Given the description of an element on the screen output the (x, y) to click on. 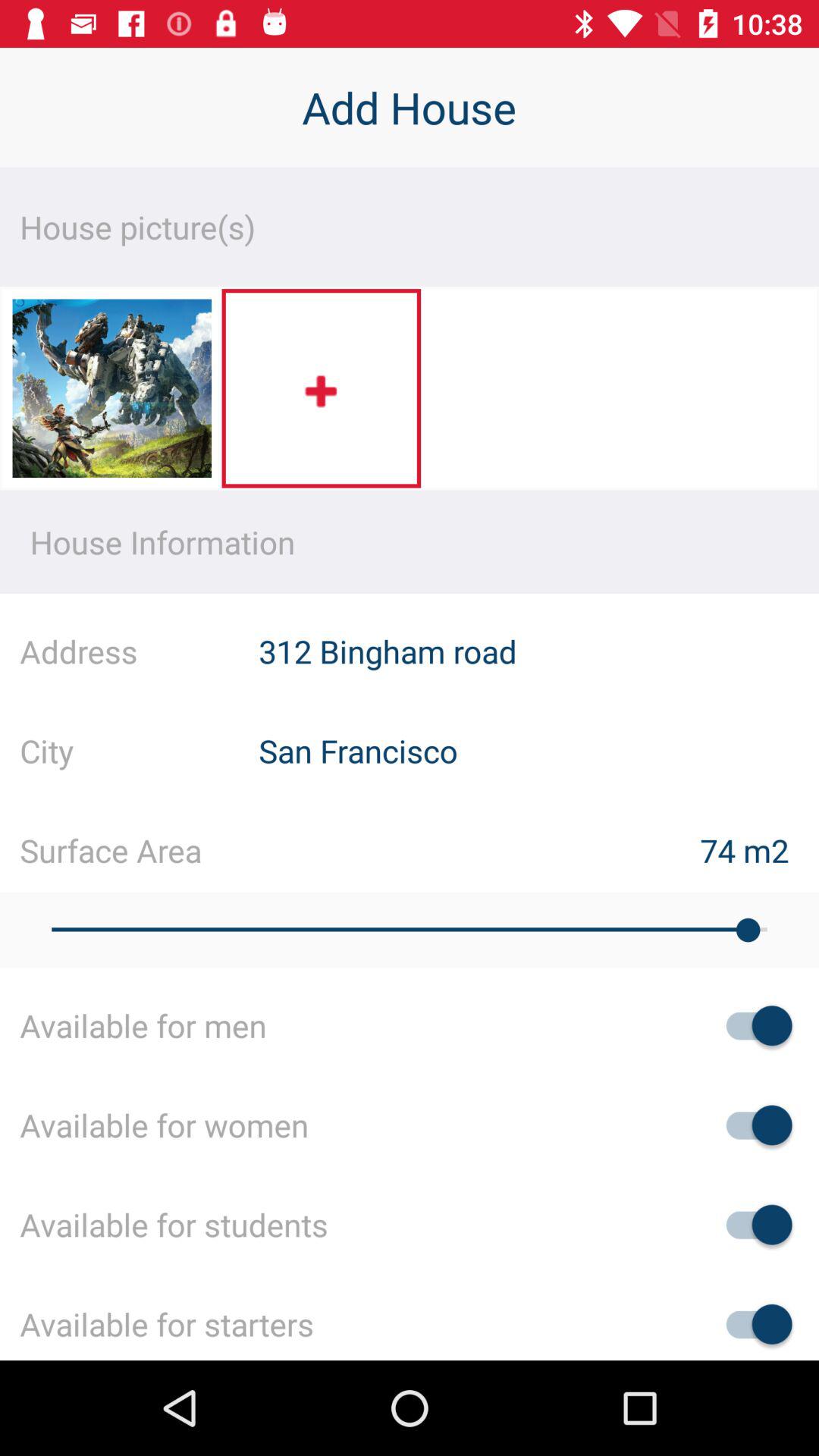
open the san francisco (538, 750)
